Given the description of an element on the screen output the (x, y) to click on. 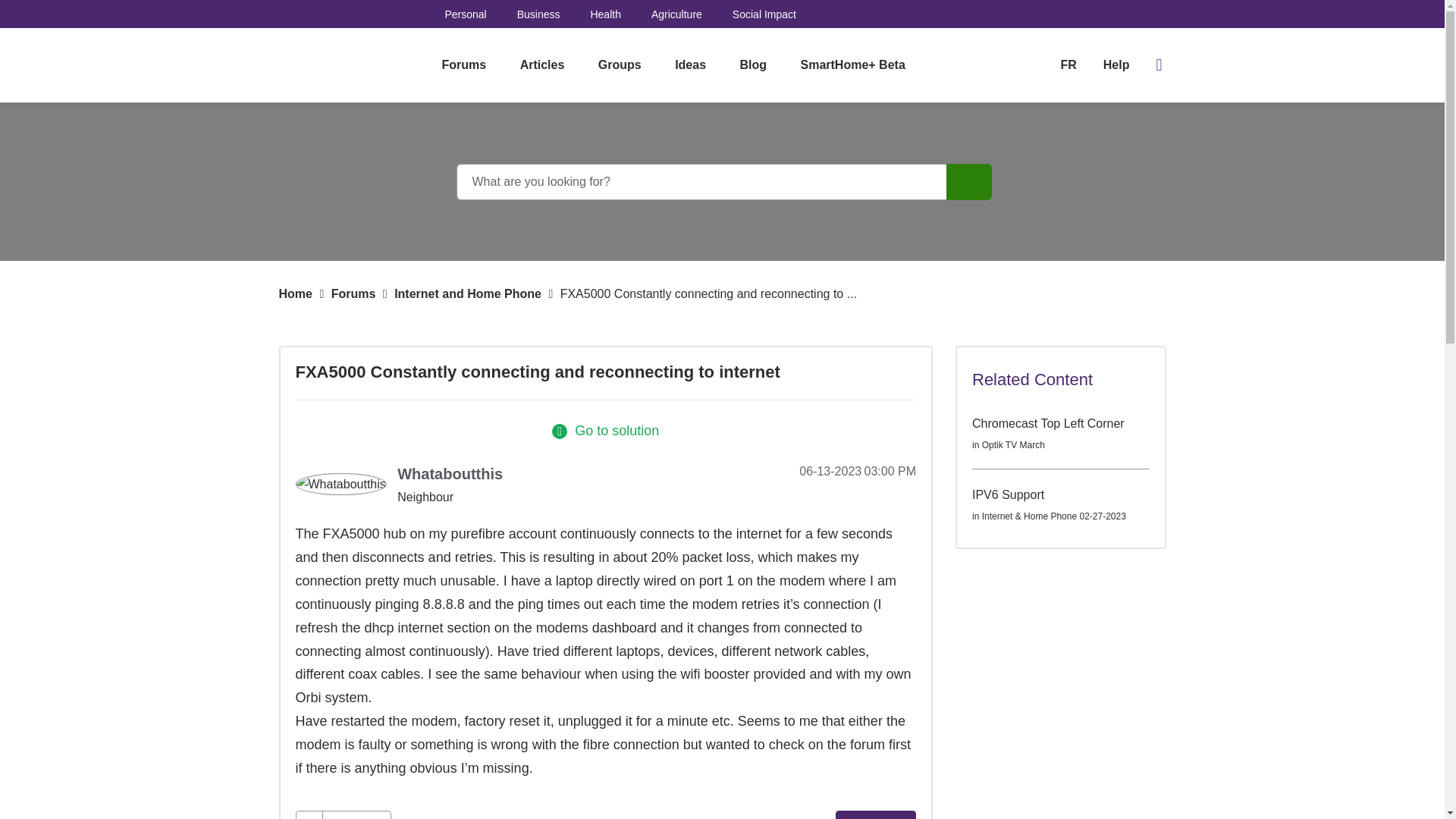
The total number of kudos this post has received. (356, 815)
Search (968, 181)
Social Impact (764, 14)
Groups (619, 64)
Health (604, 14)
Agriculture (675, 14)
Reply (875, 814)
Search (968, 181)
Forums (353, 293)
Help (1116, 64)
Internet and Home Phone (467, 293)
Articles (542, 64)
Home (296, 293)
FR (1067, 64)
Business (538, 14)
